Given the description of an element on the screen output the (x, y) to click on. 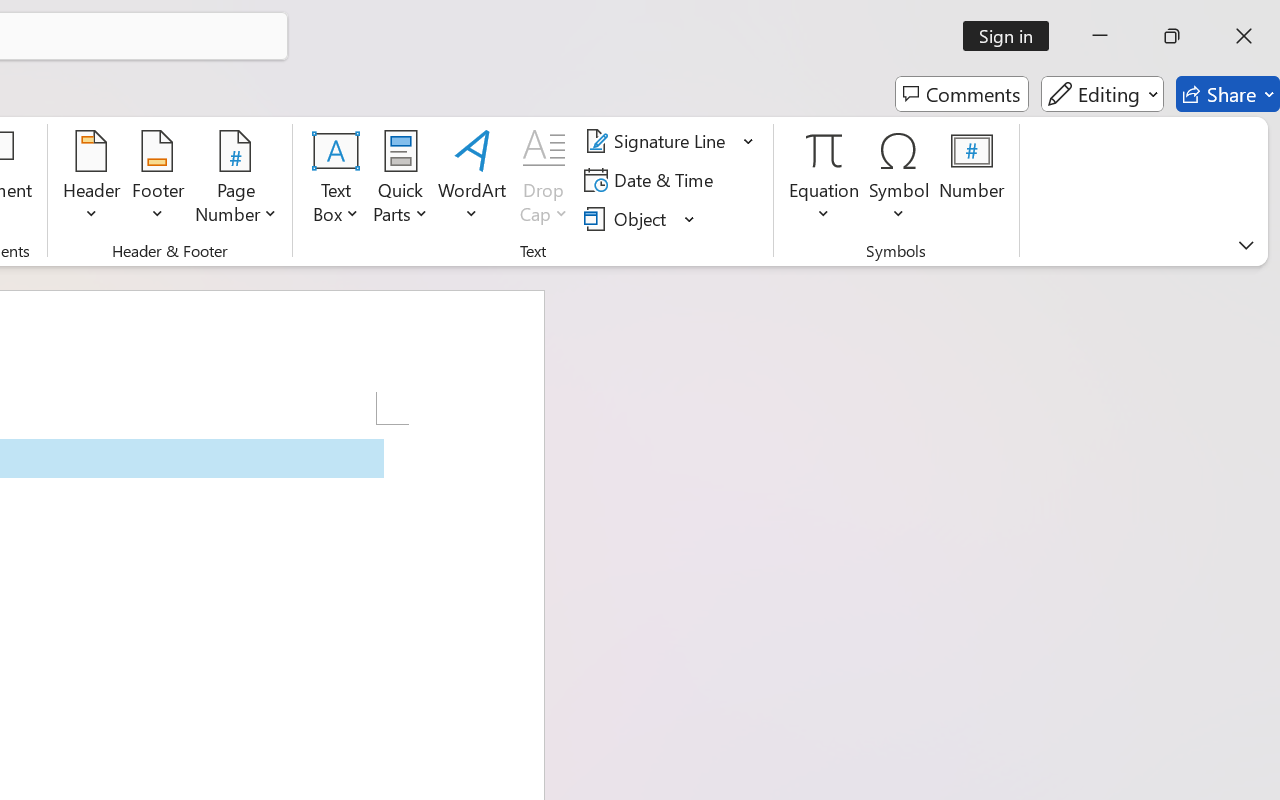
Object... (640, 218)
Footer (157, 179)
Drop Cap (543, 179)
Date & Time... (651, 179)
Quick Parts (400, 179)
WordArt (472, 179)
Number... (971, 179)
